Given the description of an element on the screen output the (x, y) to click on. 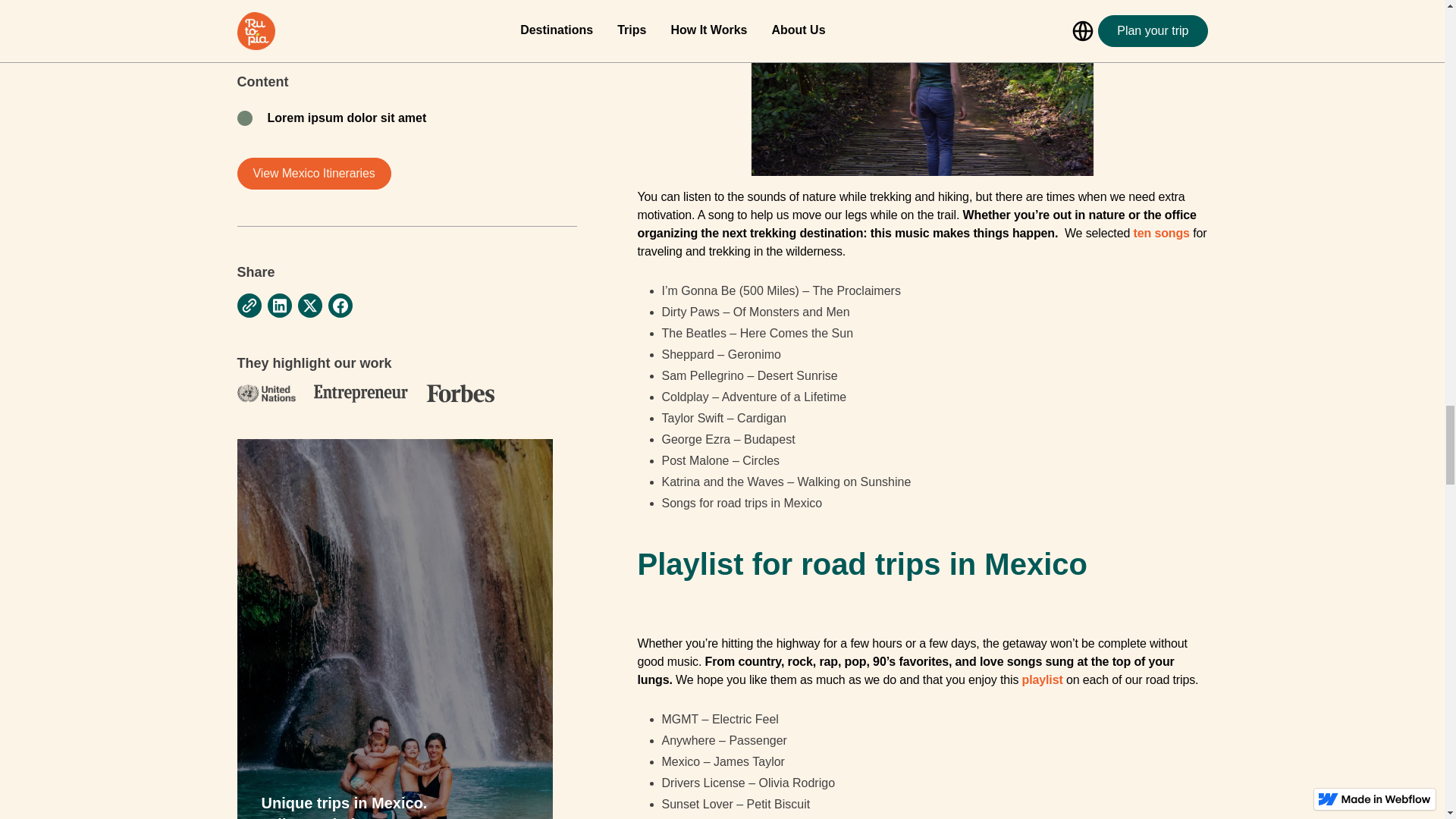
ten songs (1161, 232)
